Given the description of an element on the screen output the (x, y) to click on. 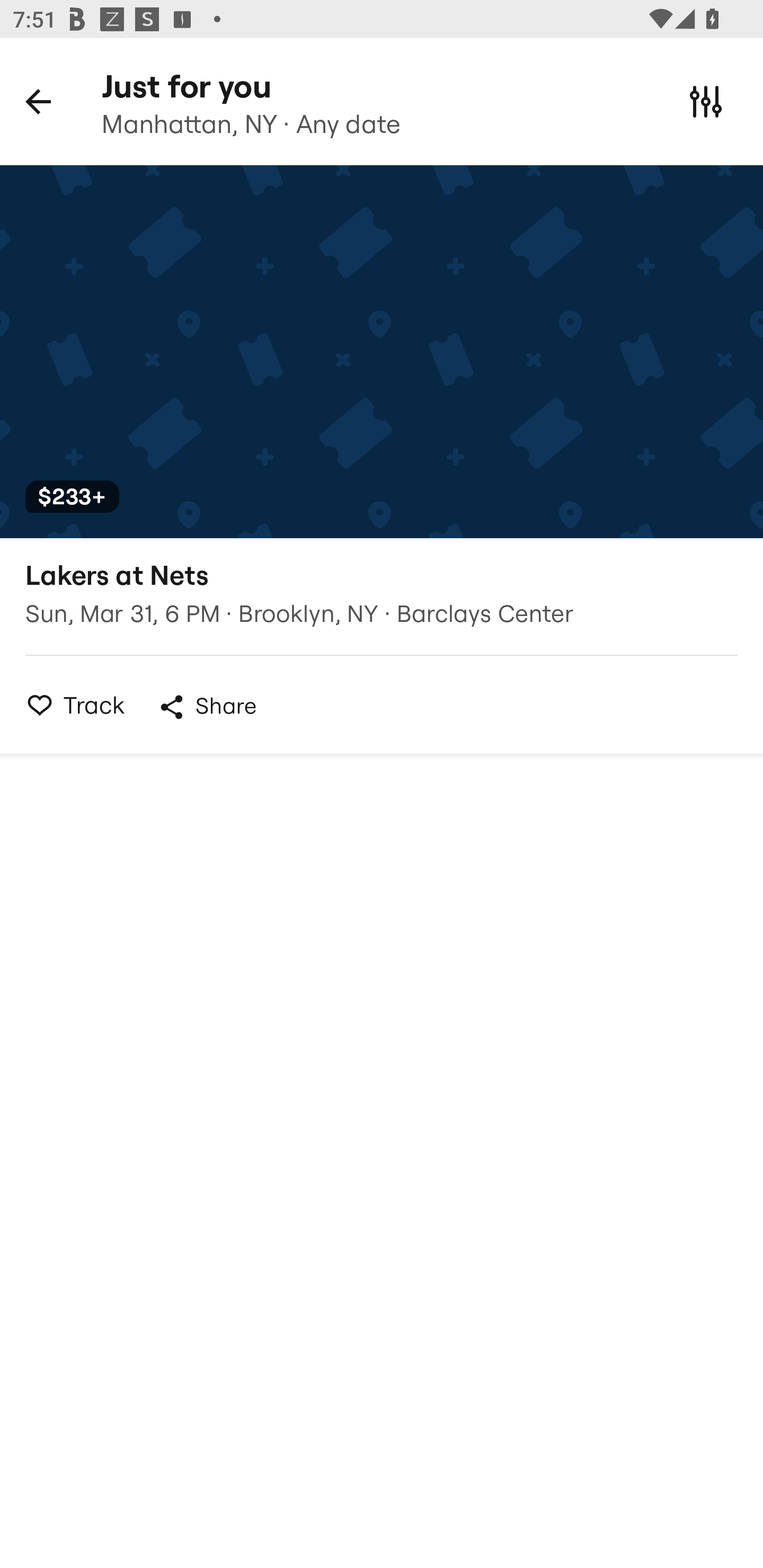
Back (38, 100)
Filters (705, 100)
Track (70, 704)
Share (207, 706)
